Given the description of an element on the screen output the (x, y) to click on. 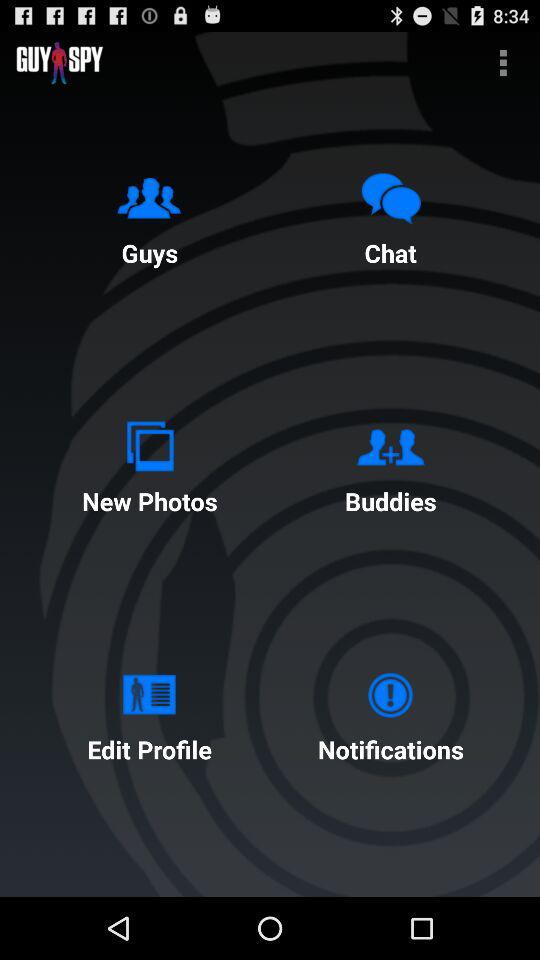
choose chat button (390, 215)
